Given the description of an element on the screen output the (x, y) to click on. 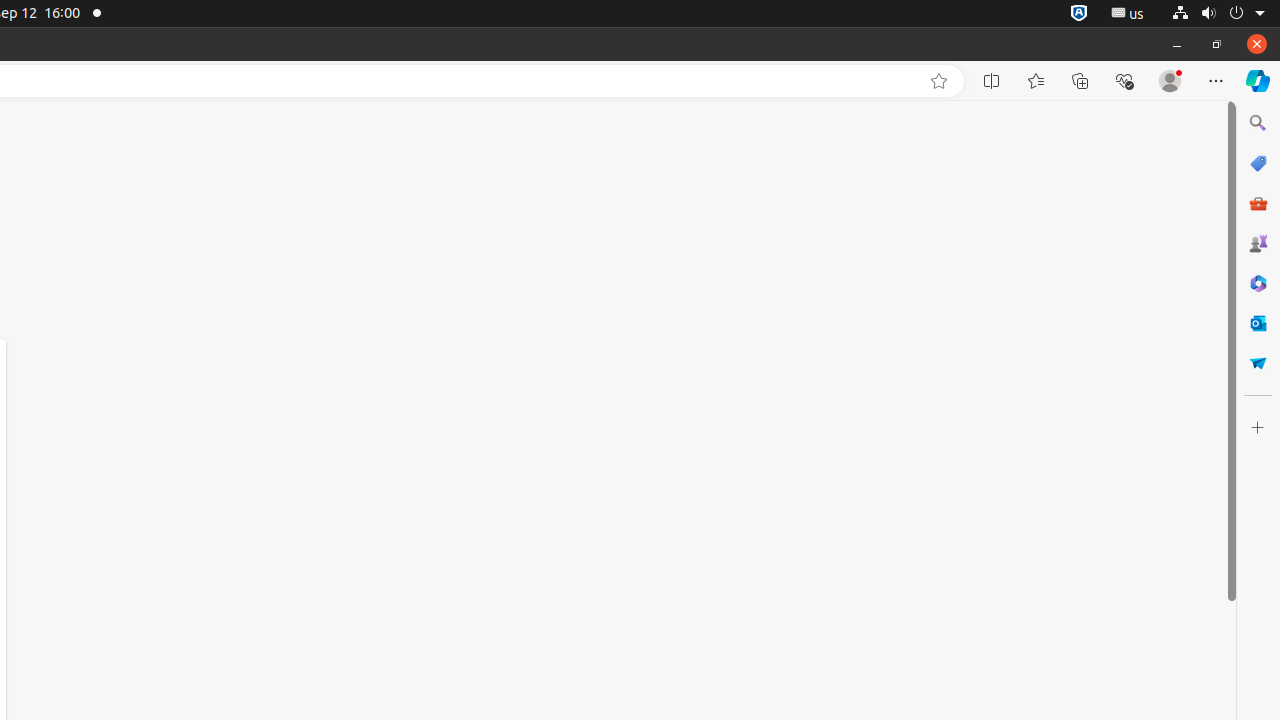
Outlook Element type: push-button (1258, 323)
Games Element type: push-button (1258, 243)
Customize Element type: push-button (1258, 428)
Browser essentials Element type: push-button (1124, 81)
